Given the description of an element on the screen output the (x, y) to click on. 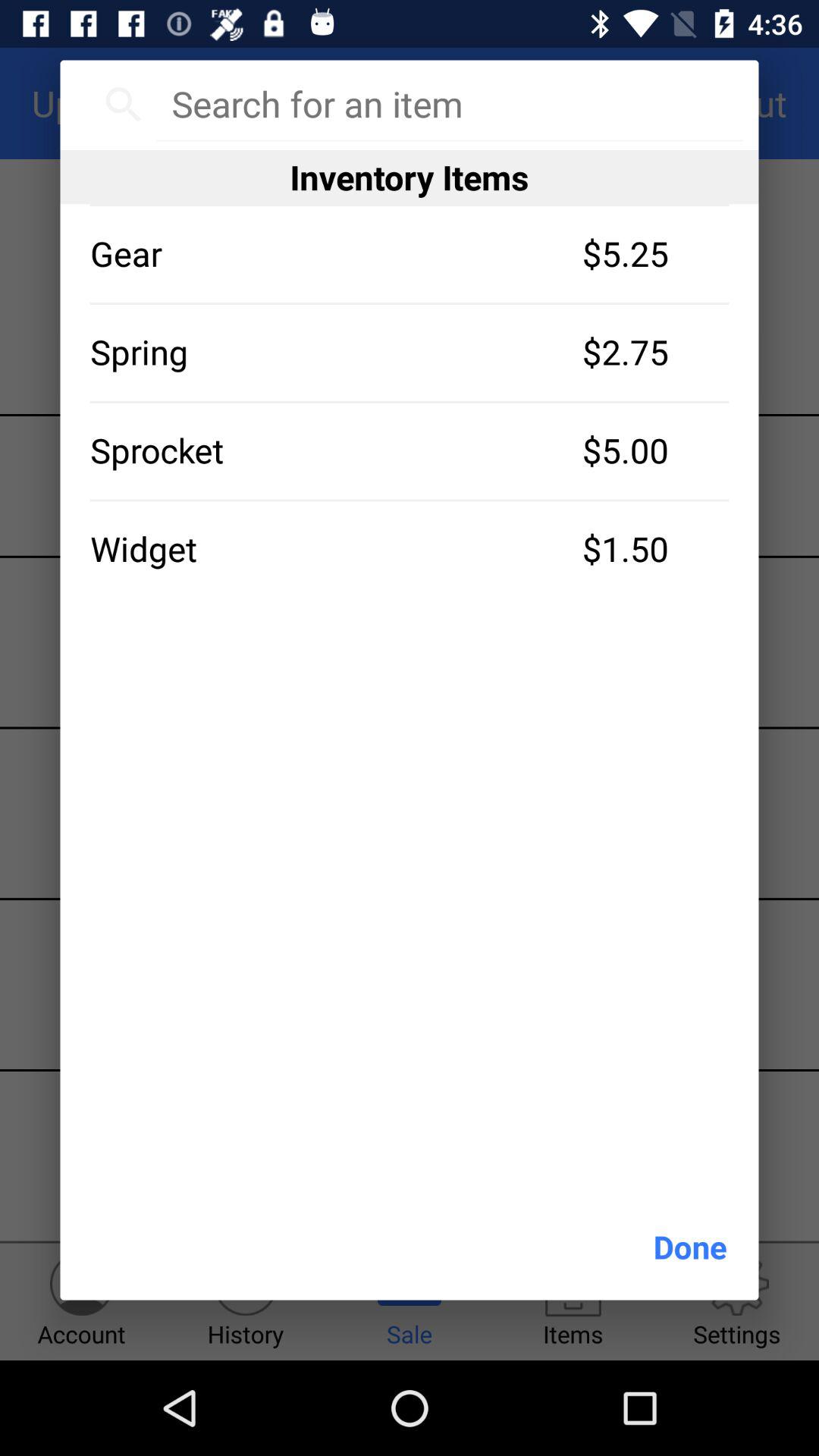
search inventory (448, 103)
